Given the description of an element on the screen output the (x, y) to click on. 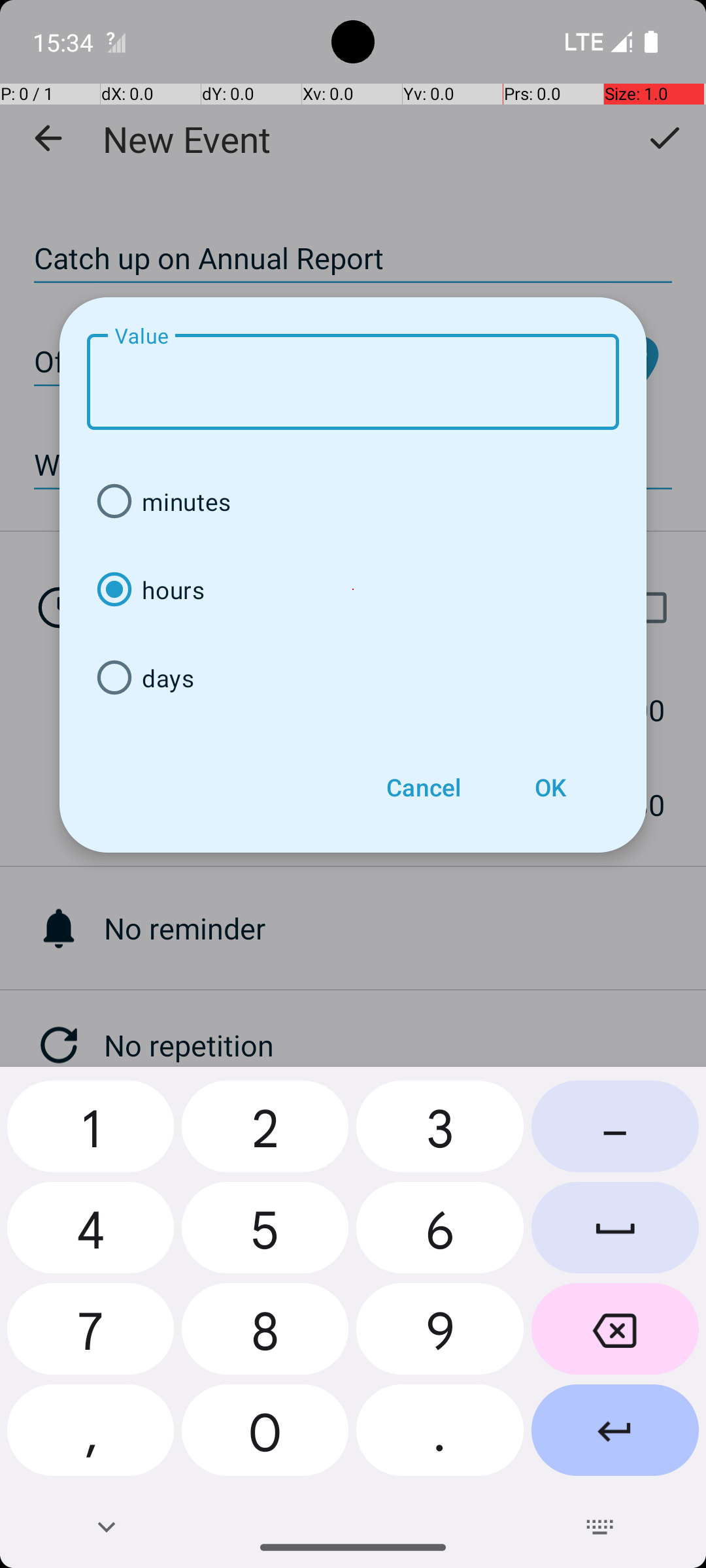
Value Element type: android.widget.EditText (352, 381)
minutes Element type: android.widget.RadioButton (352, 501)
hours Element type: android.widget.RadioButton (352, 589)
days Element type: android.widget.RadioButton (352, 677)
